Given the description of an element on the screen output the (x, y) to click on. 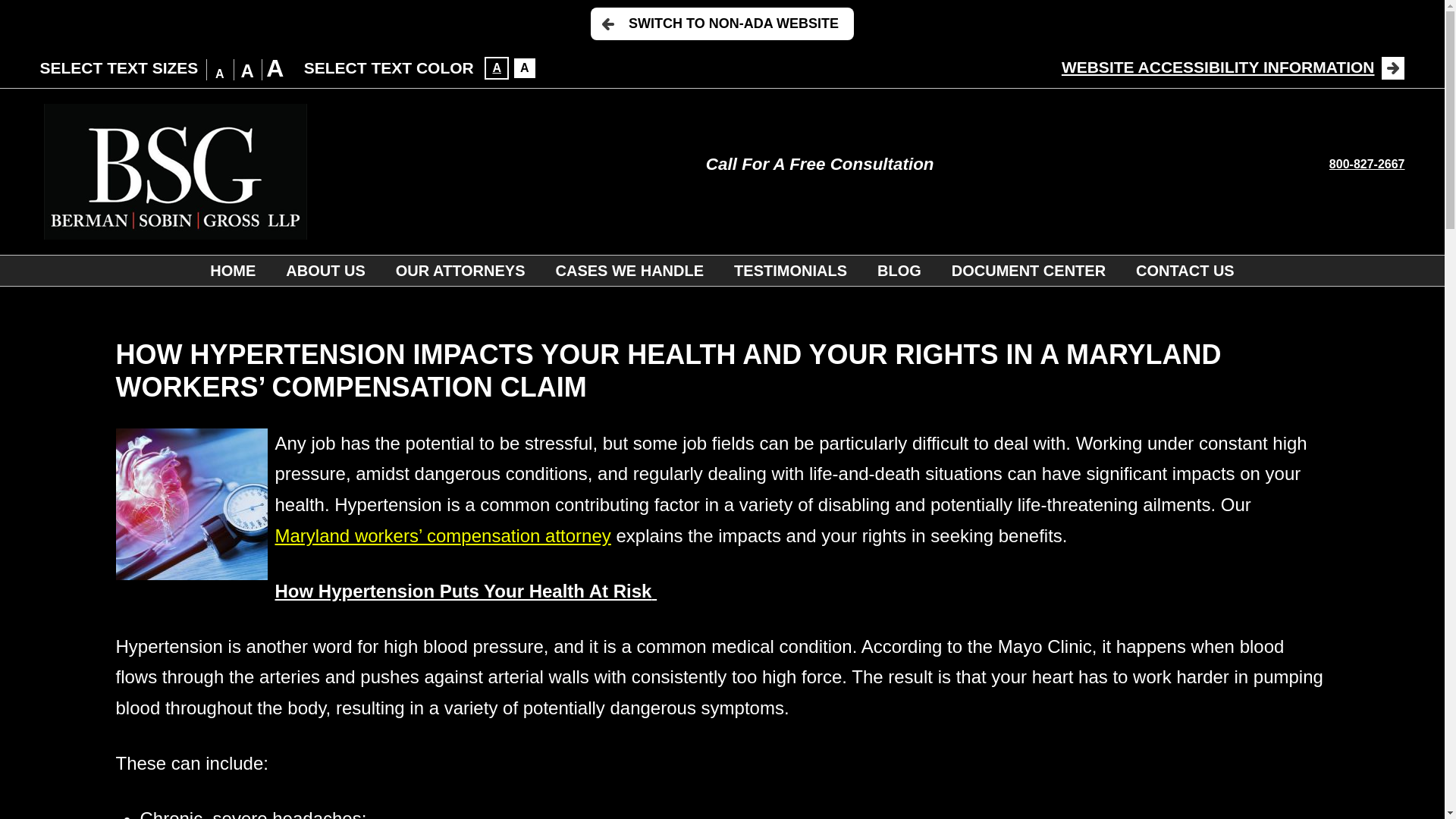
ABOUT US (325, 270)
SWITCH TO NON-ADA WEBSITE (722, 23)
A (524, 67)
800-827-2667 (1367, 164)
Invert Colors (524, 67)
HOME (232, 270)
WEBSITE ACCESSIBILITY INFORMATION (1233, 67)
Click to view external accessibility article (1233, 67)
CASES WE HANDLE (629, 270)
Hypertension (190, 503)
A (496, 67)
Invert Colors (496, 67)
OUR ATTORNEYS (460, 270)
